Given the description of an element on the screen output the (x, y) to click on. 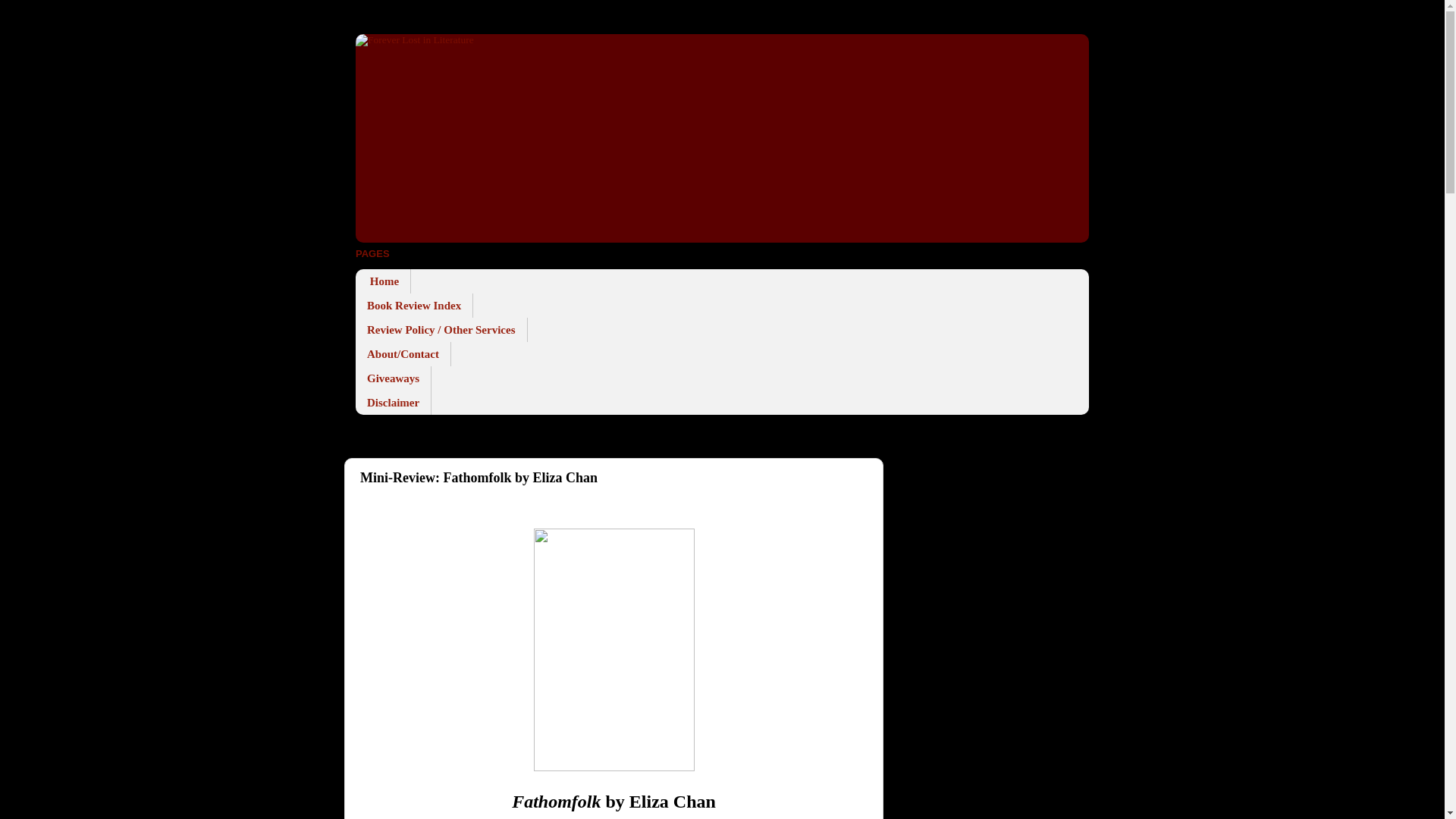
Giveaways (392, 378)
Book Review Index (414, 305)
Disclaimer (392, 402)
Home (382, 281)
